Given the description of an element on the screen output the (x, y) to click on. 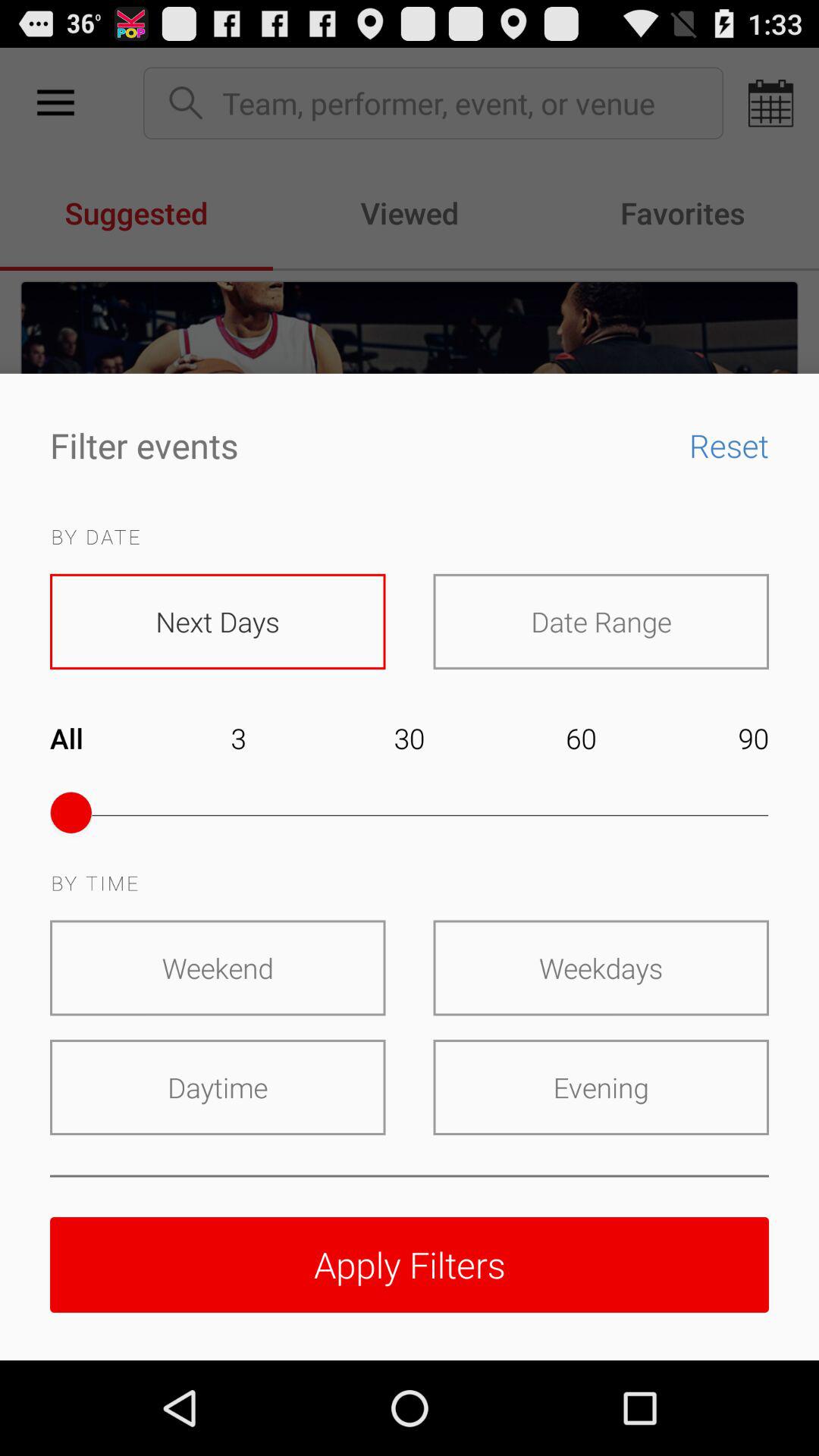
choose icon to the right of weekend item (600, 967)
